Given the description of an element on the screen output the (x, y) to click on. 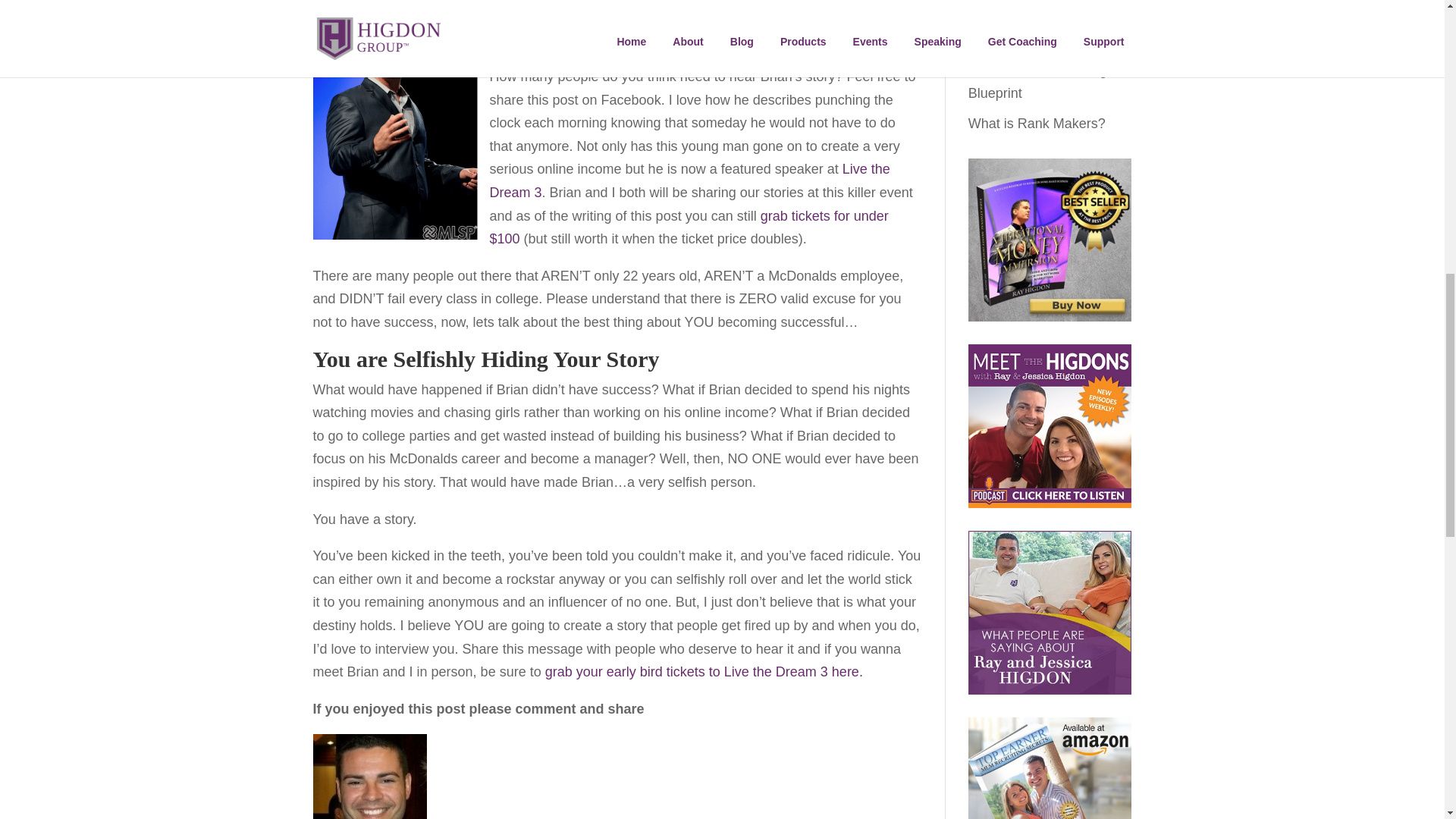
Live the Dream 3 (689, 180)
rayface (369, 776)
grab your early bird tickets to Live the Dream 3 here. (703, 671)
